Given the description of an element on the screen output the (x, y) to click on. 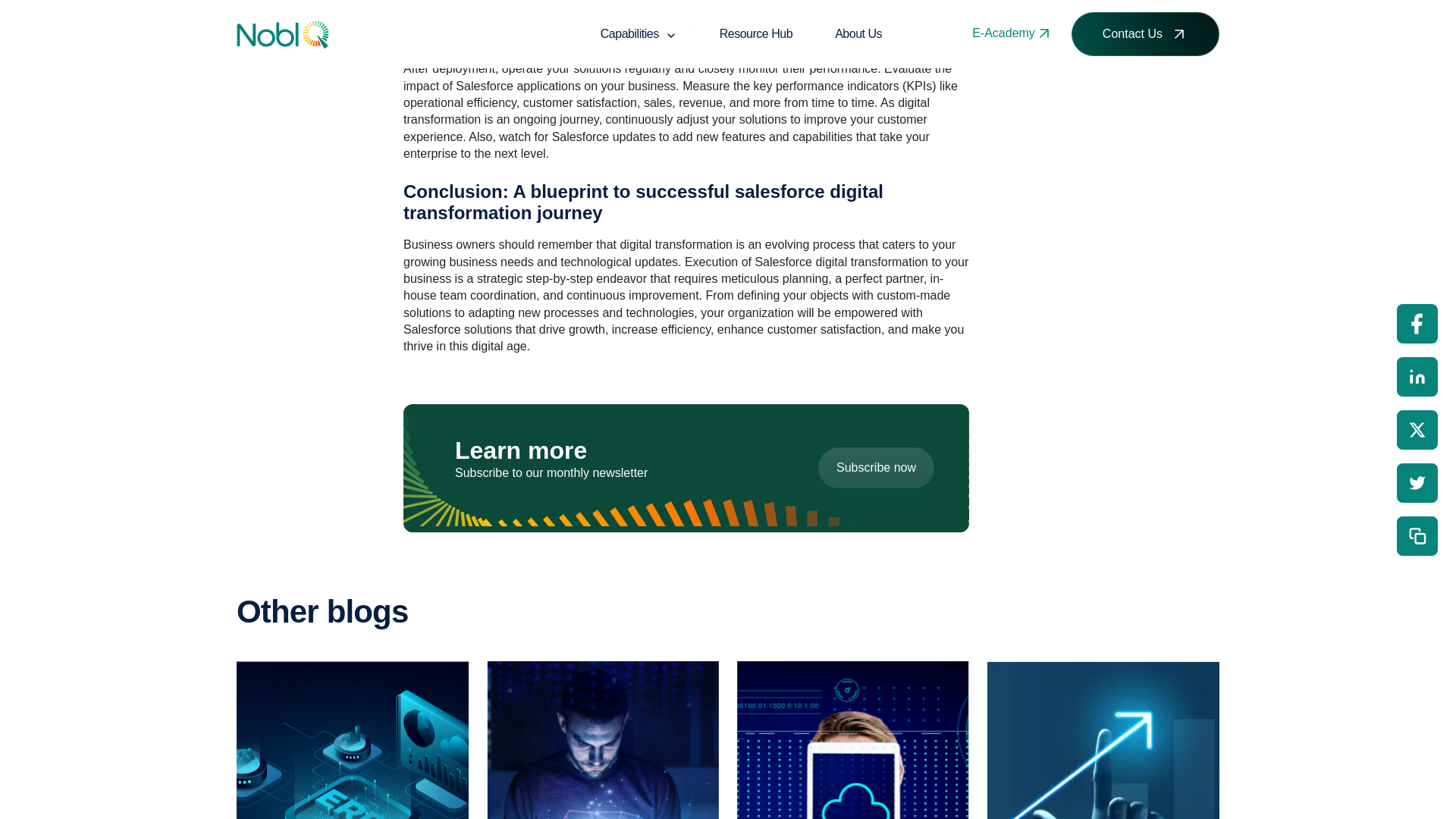
Subscribe now (876, 467)
